Given the description of an element on the screen output the (x, y) to click on. 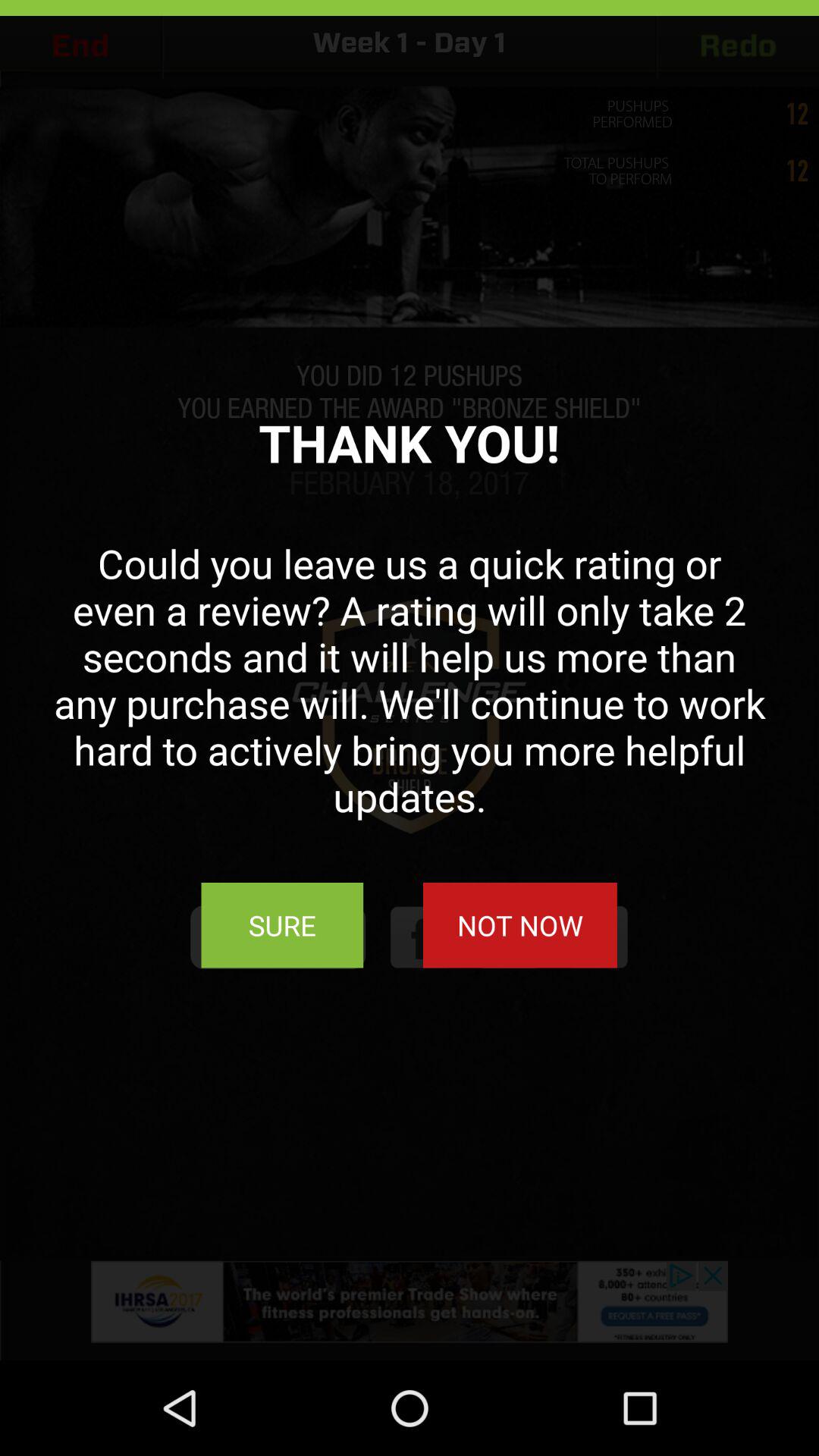
choose the icon next to the not now icon (282, 925)
